Given the description of an element on the screen output the (x, y) to click on. 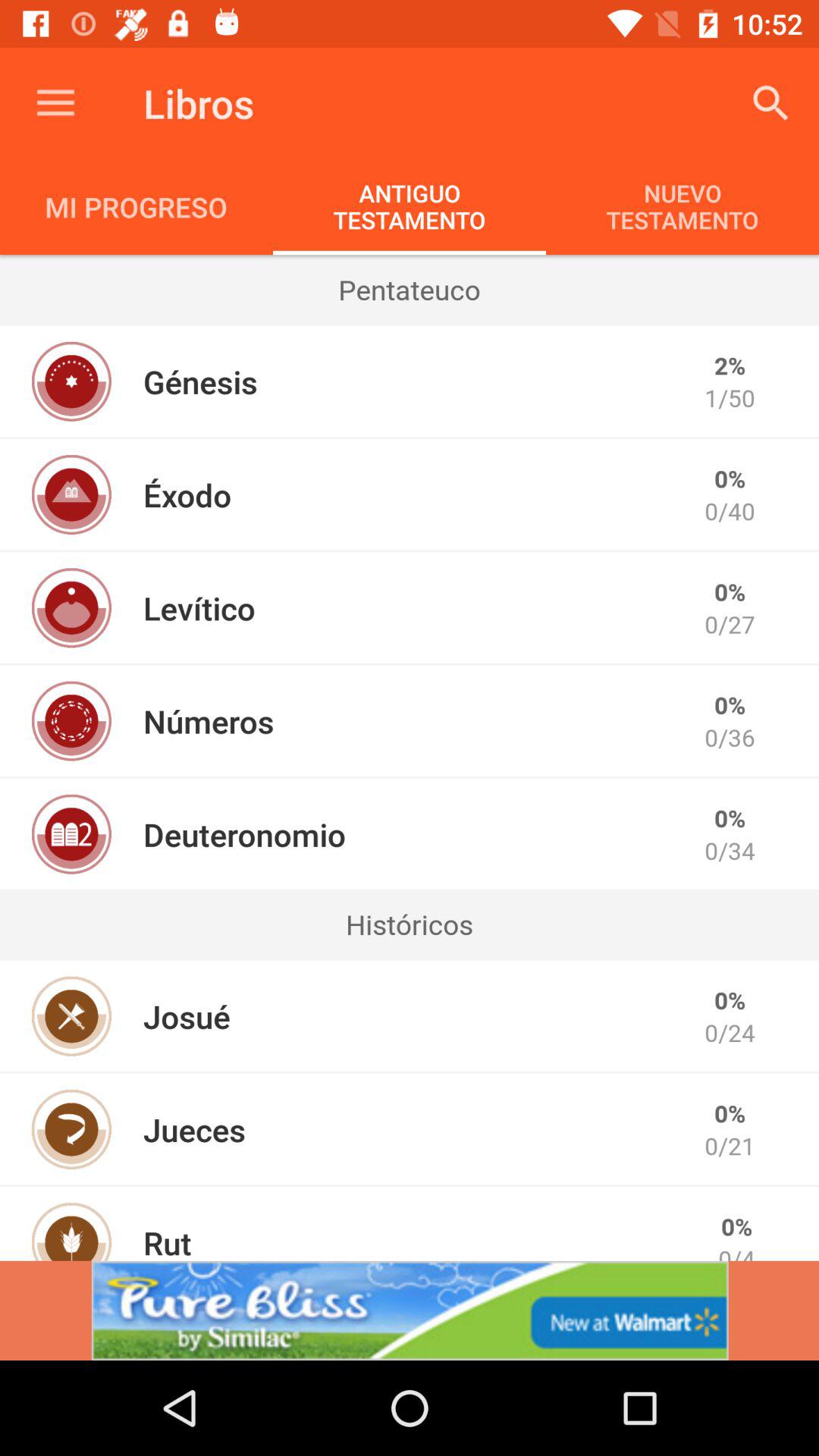
click icon to the left of the 0/27 (199, 607)
